Given the description of an element on the screen output the (x, y) to click on. 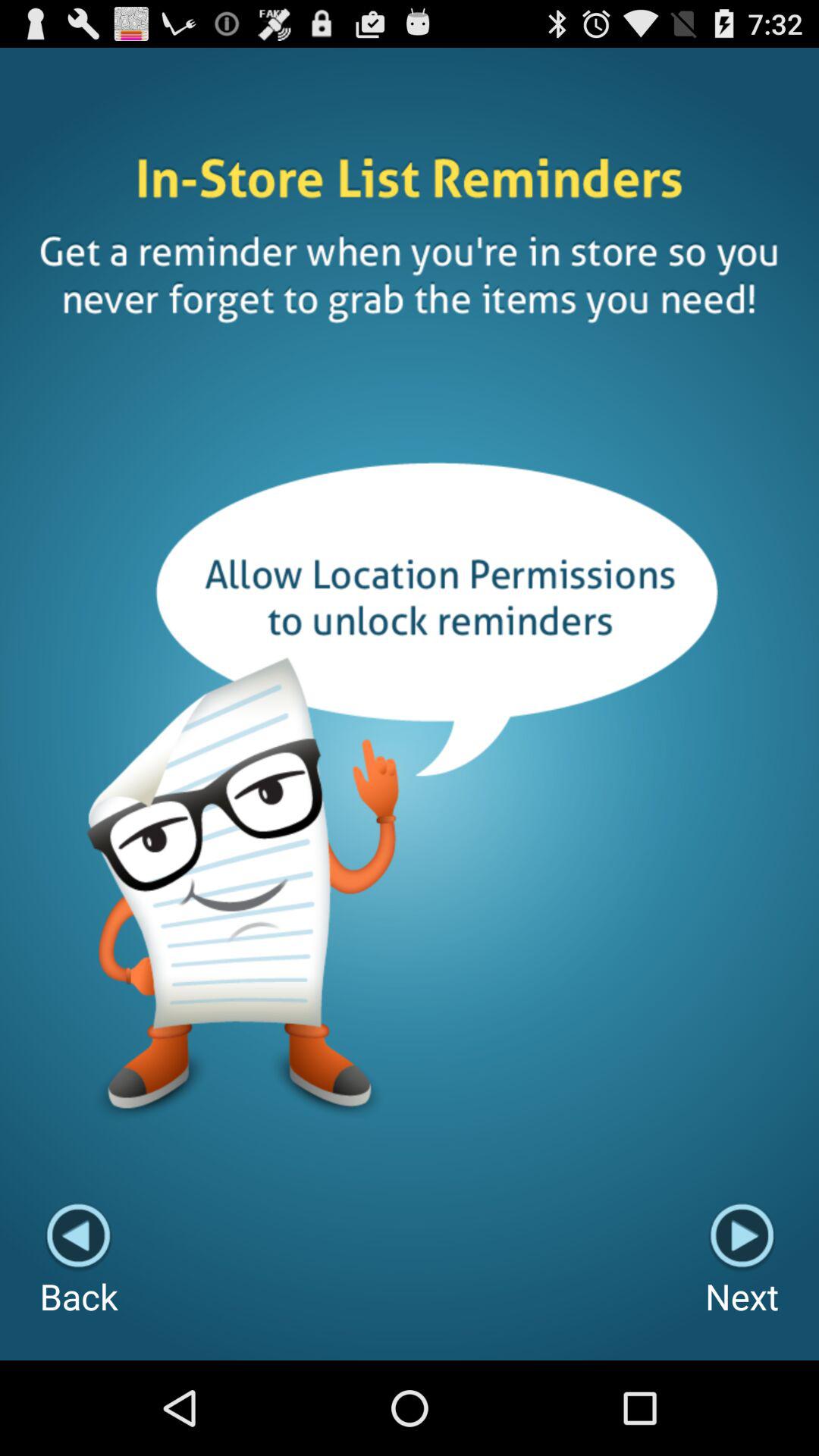
swipe until back item (79, 1260)
